Given the description of an element on the screen output the (x, y) to click on. 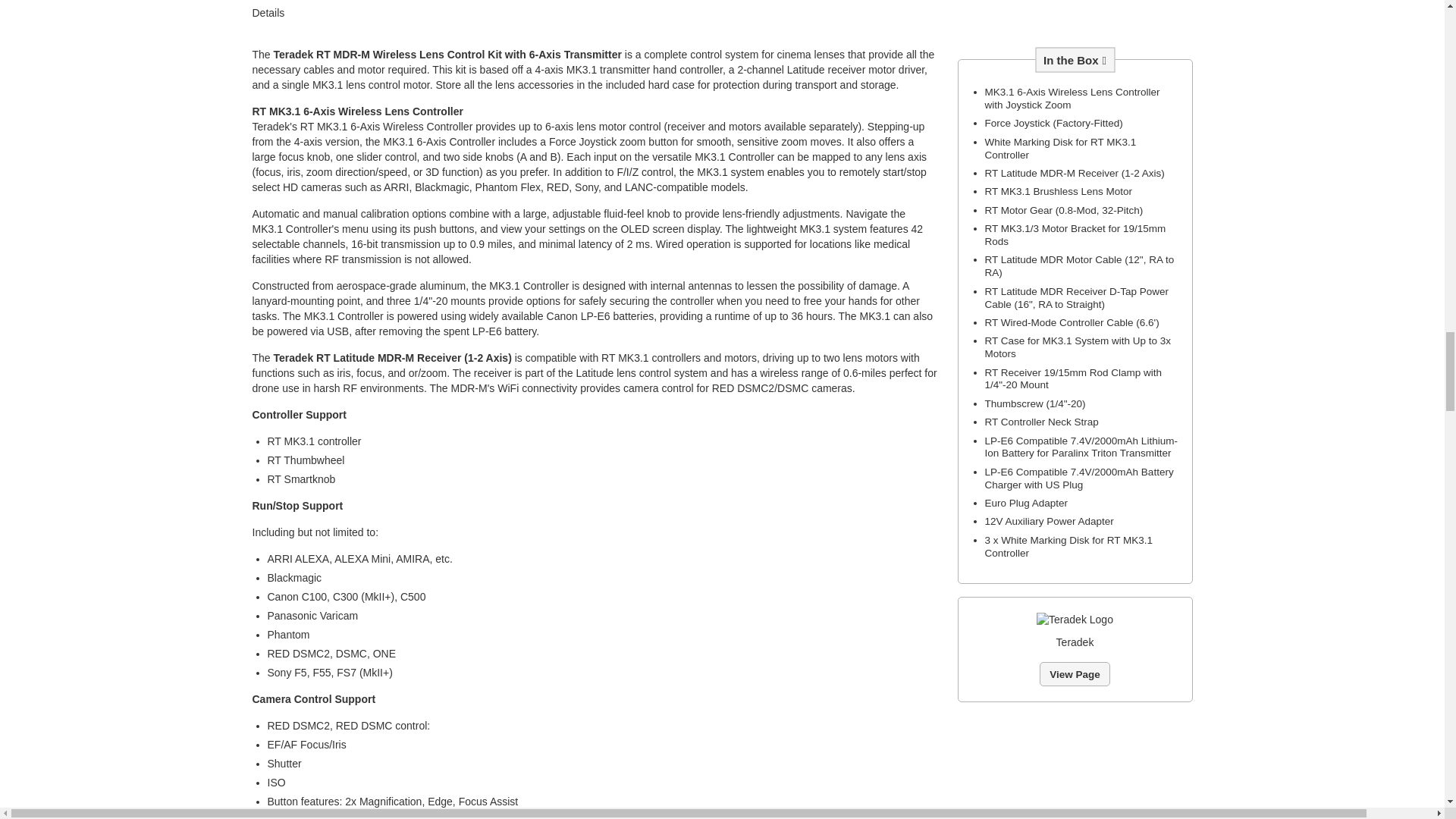
Teradek (1074, 620)
